Given the description of an element on the screen output the (x, y) to click on. 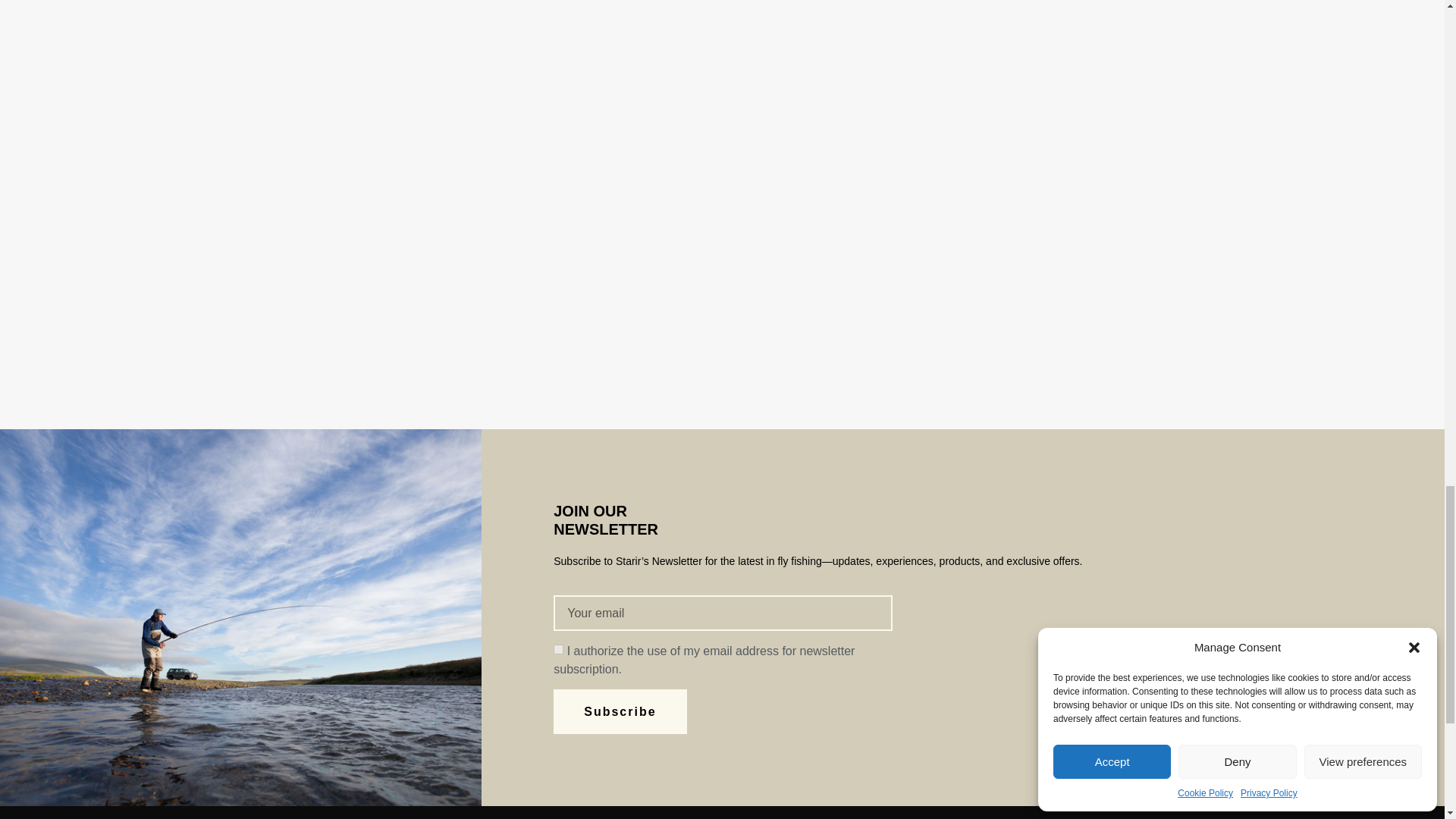
on (558, 649)
